Given the description of an element on the screen output the (x, y) to click on. 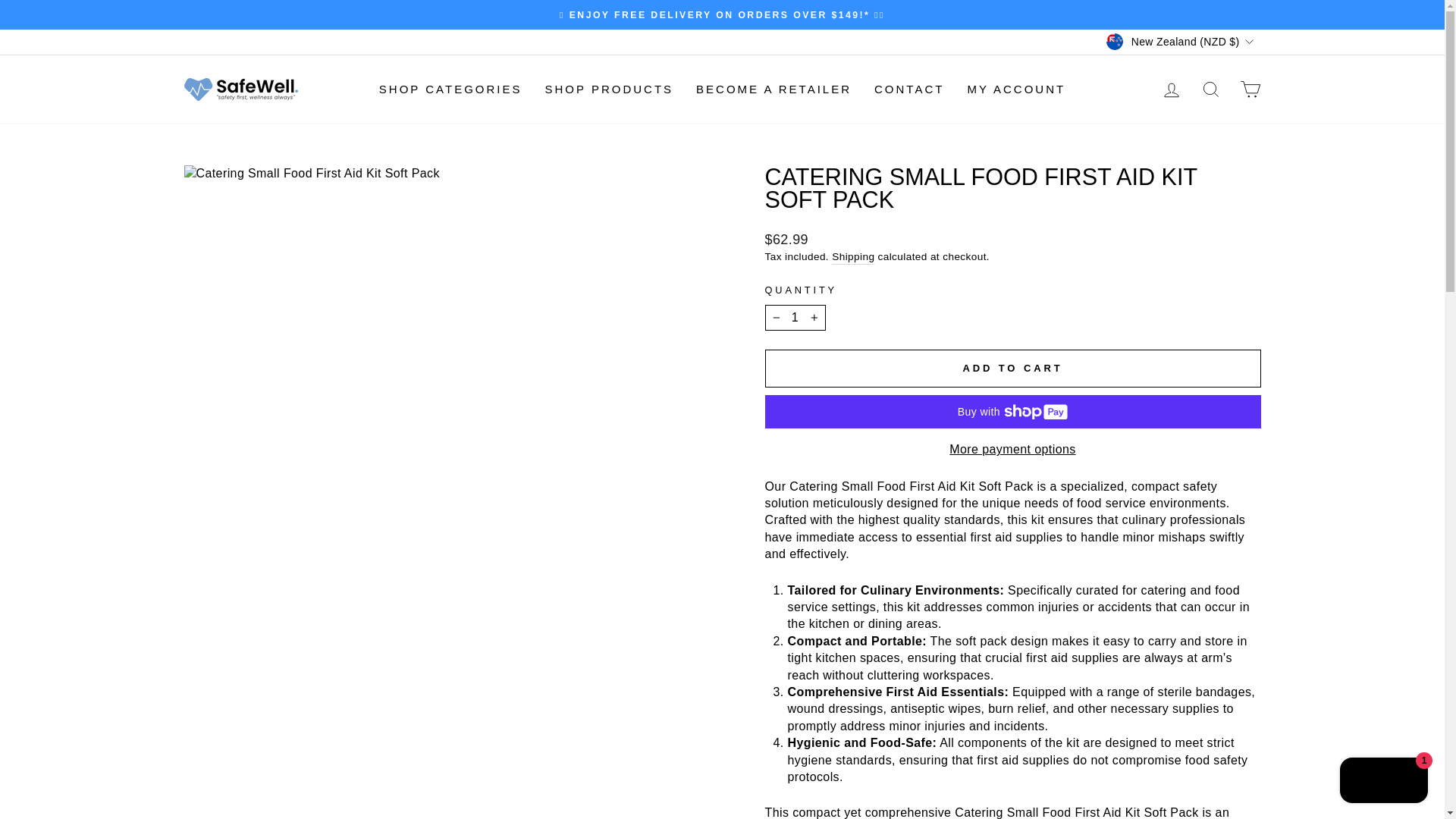
Shopify online store chat (1383, 781)
1 (794, 317)
